Given the description of an element on the screen output the (x, y) to click on. 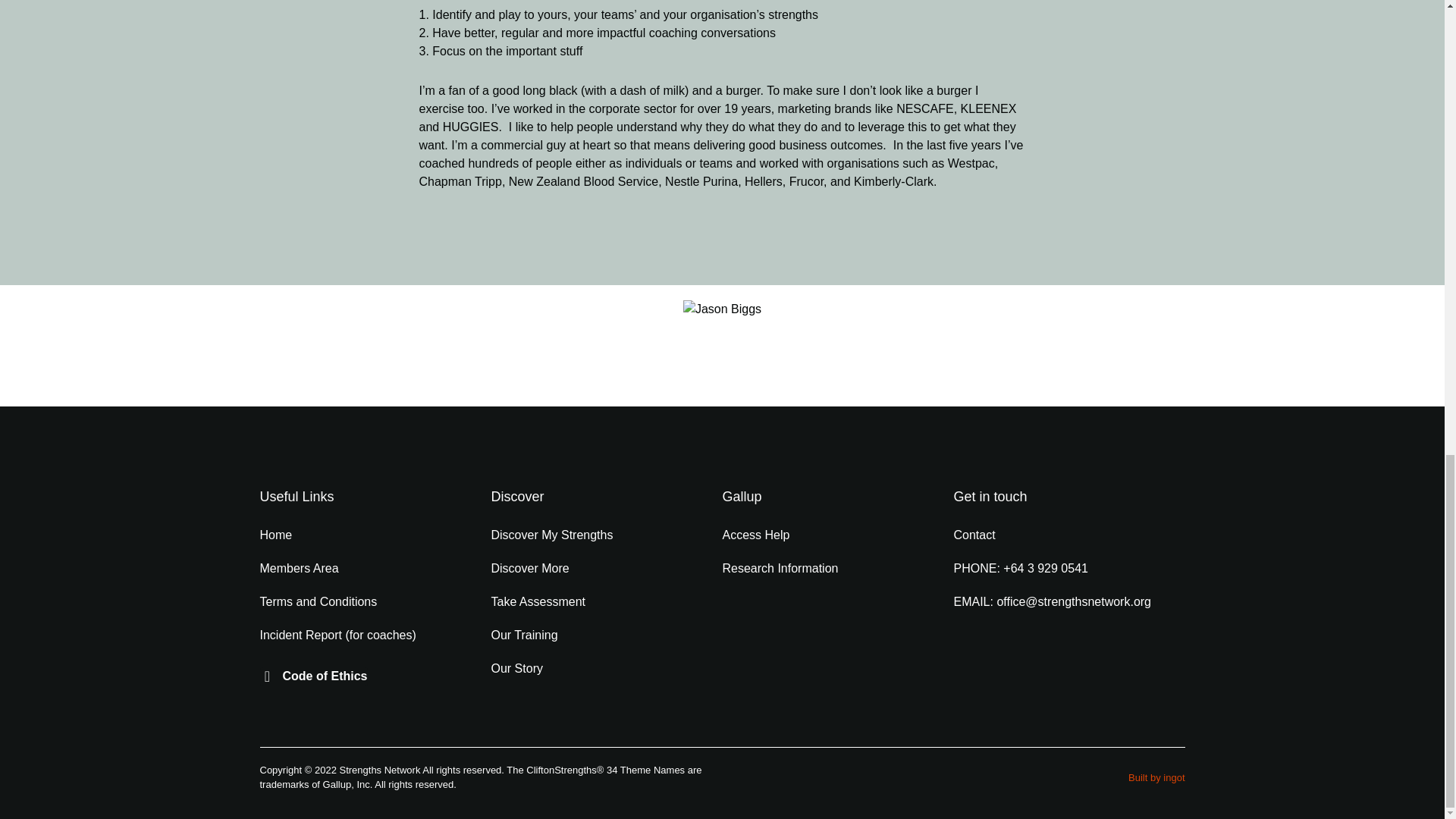
Discover My Strengths (607, 535)
Members Area (374, 568)
Terms and Conditions (374, 602)
Home (374, 535)
Code of Ethics (312, 676)
Discover More (607, 568)
